Given the description of an element on the screen output the (x, y) to click on. 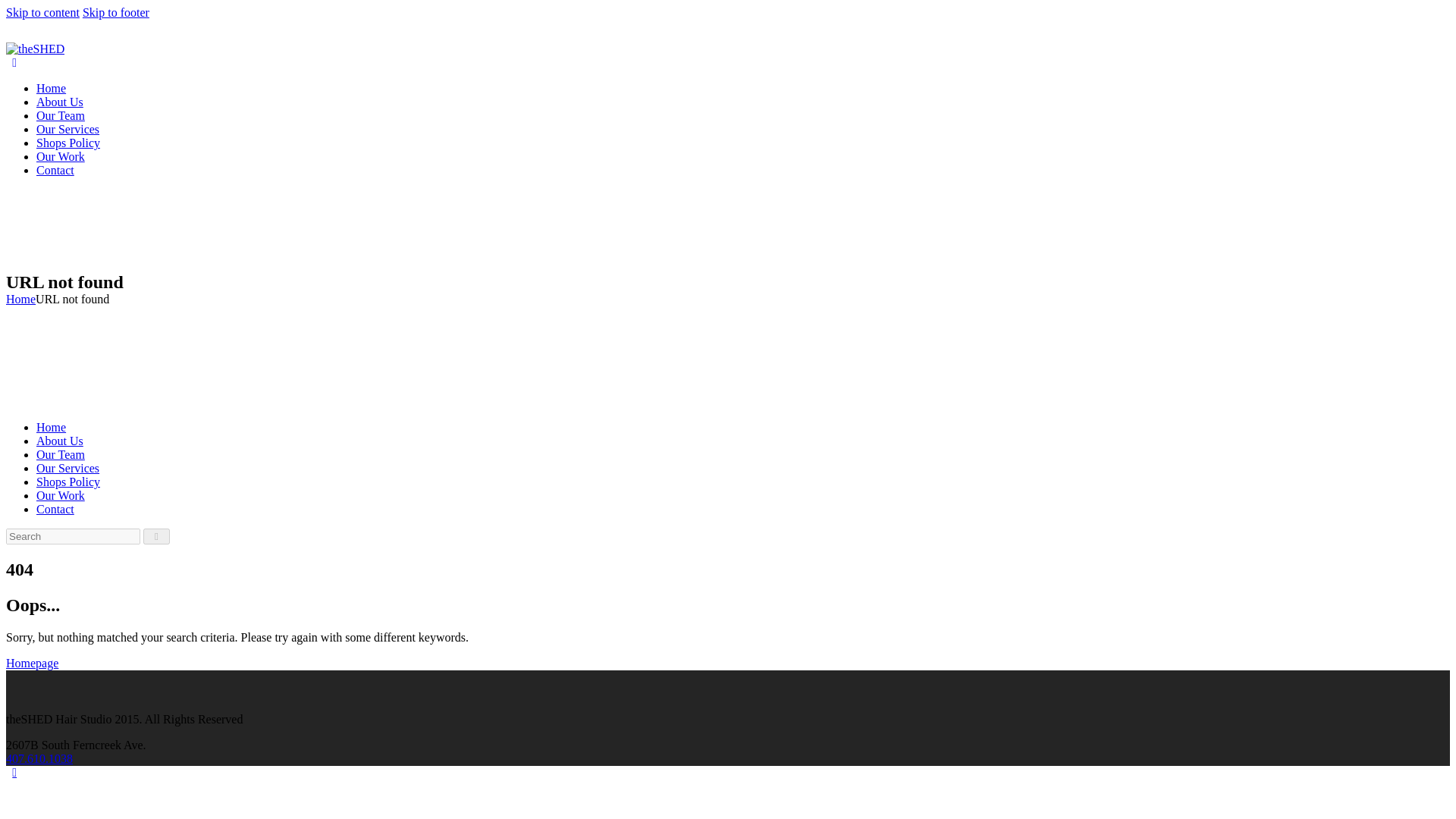
Our Team (60, 115)
Our Services (67, 468)
Our Services (67, 128)
407.610.1038 (38, 758)
Skip to footer (115, 11)
Home (19, 298)
Homepage (31, 662)
Contact (55, 508)
Our Team (60, 454)
Home (50, 88)
Home (50, 427)
Our Work (60, 155)
Shops Policy (68, 481)
Our Work (60, 495)
Skip to content (42, 11)
